Given the description of an element on the screen output the (x, y) to click on. 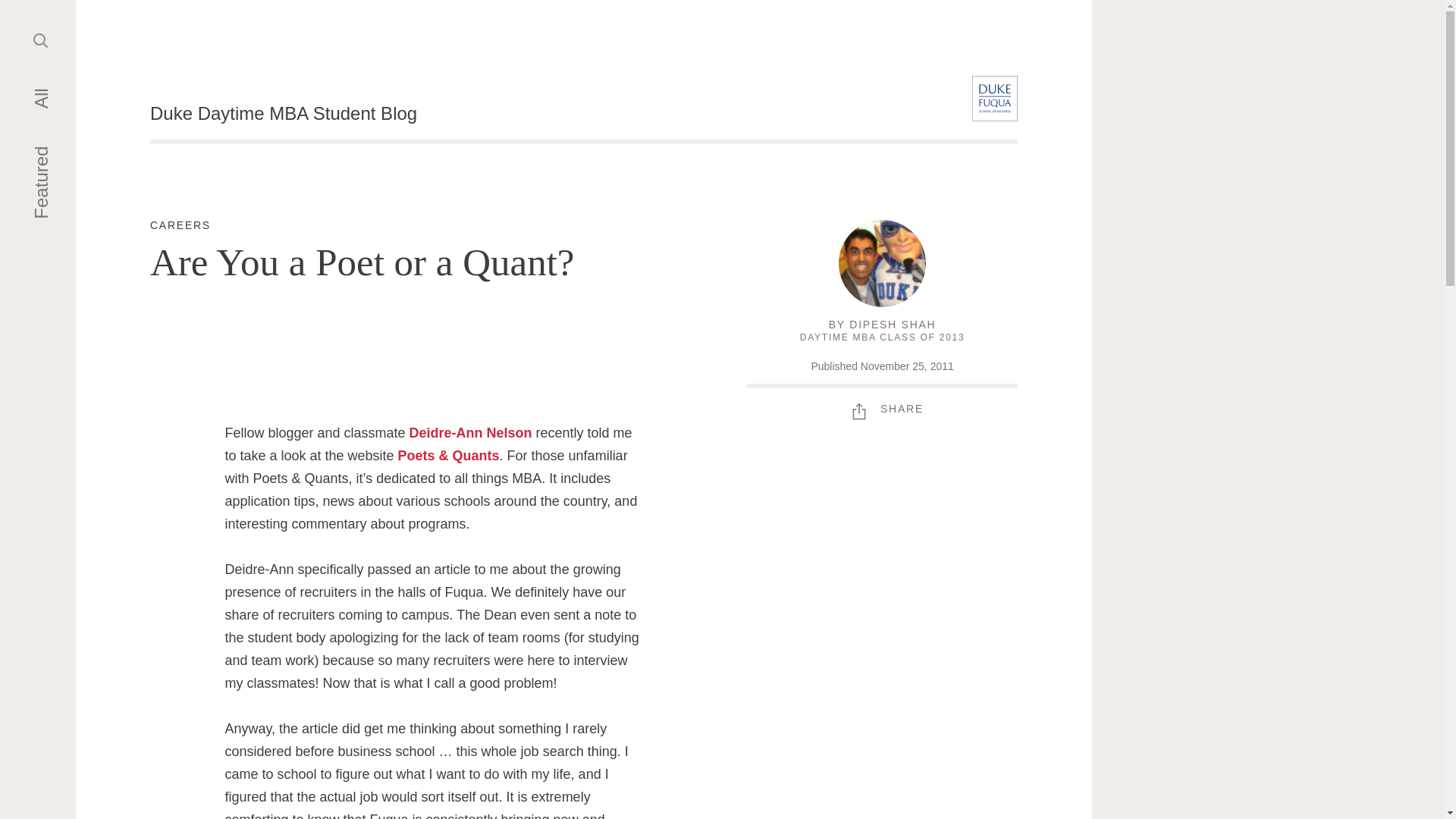
Deidre-Ann Nelson (470, 432)
Search (40, 40)
Duke Daytime MBA Student Blog (282, 113)
DIPESH SHAH (180, 225)
SHARE (892, 324)
All (882, 408)
Featured (40, 99)
